Given the description of an element on the screen output the (x, y) to click on. 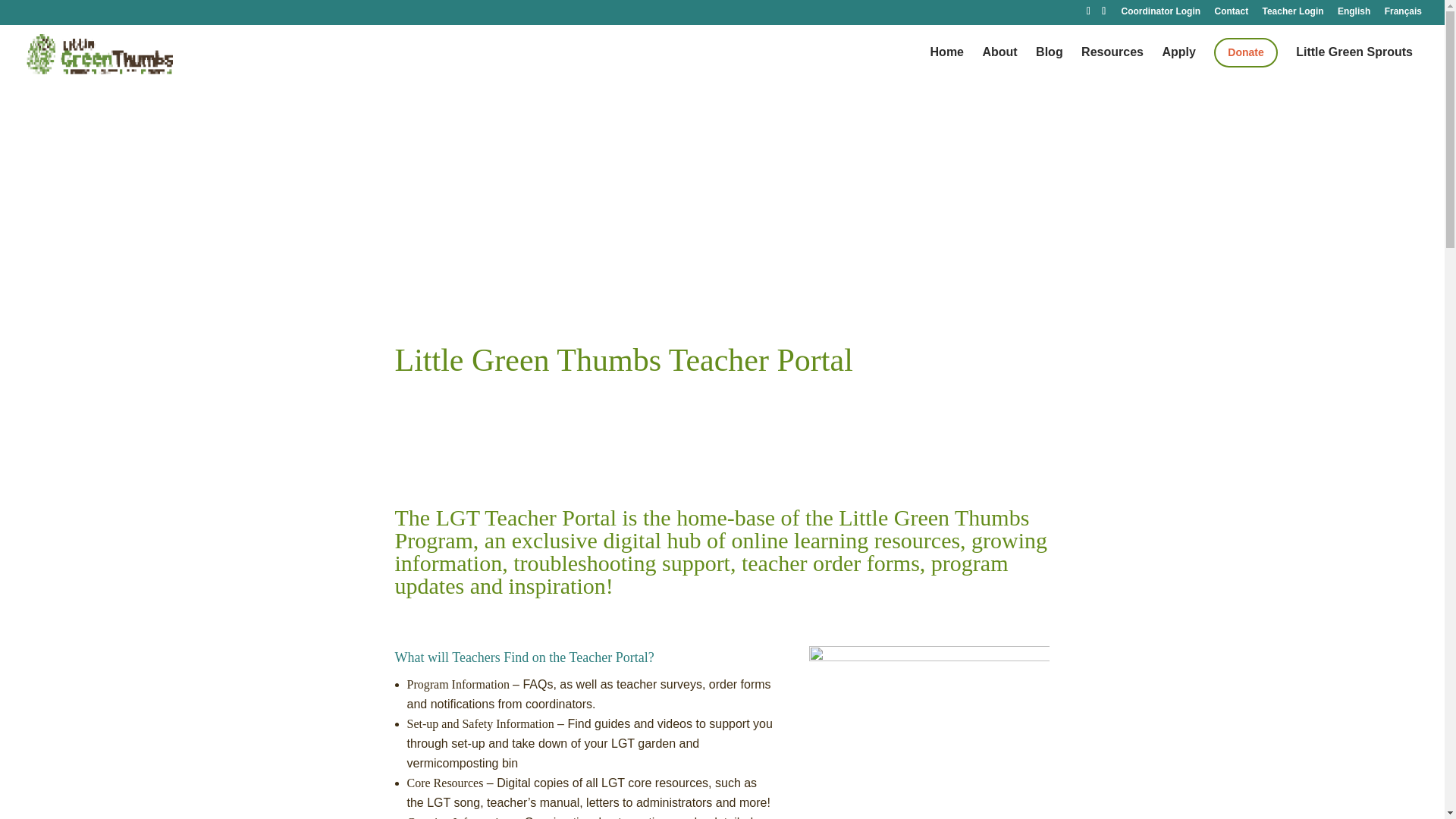
Coordinator Login (1160, 14)
Contact (1230, 14)
Resources (1111, 65)
Little Green Sprouts (1353, 65)
Donate (1245, 52)
Teacher Login (1292, 14)
English (1354, 14)
About (998, 65)
